Given the description of an element on the screen output the (x, y) to click on. 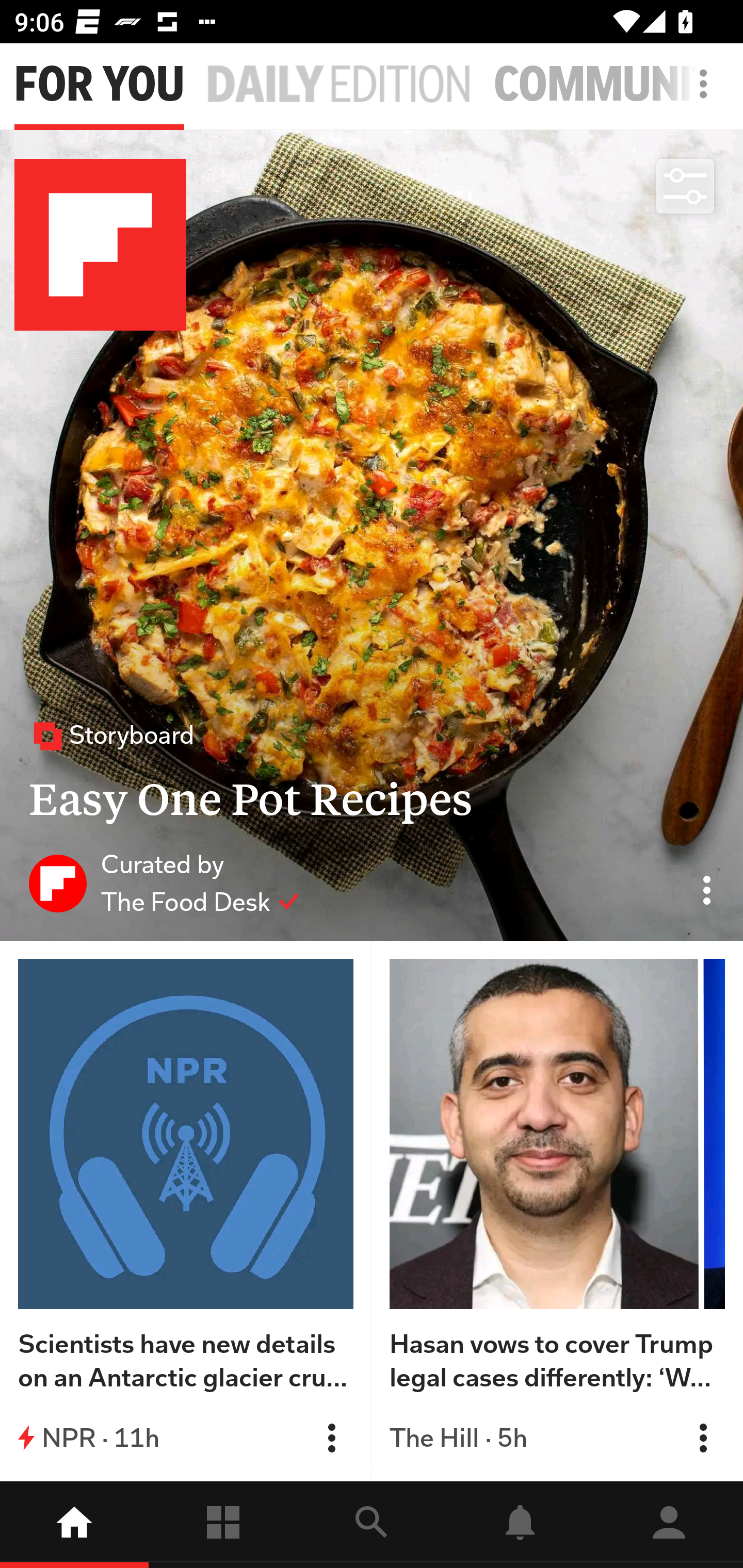
FOR YOU (99, 84)
COMMUNITY (618, 84)
Edit Home (697, 83)
Curated by The Food Desk (163, 882)
NPR · 11h Flip into Magazine (185, 1437)
The Hill · 5h Flip into Magazine (557, 1437)
Flip into Magazine (331, 1437)
Flip into Magazine (703, 1437)
home (74, 1524)
Following (222, 1524)
explore (371, 1524)
Notifications (519, 1524)
Profile (668, 1524)
